Given the description of an element on the screen output the (x, y) to click on. 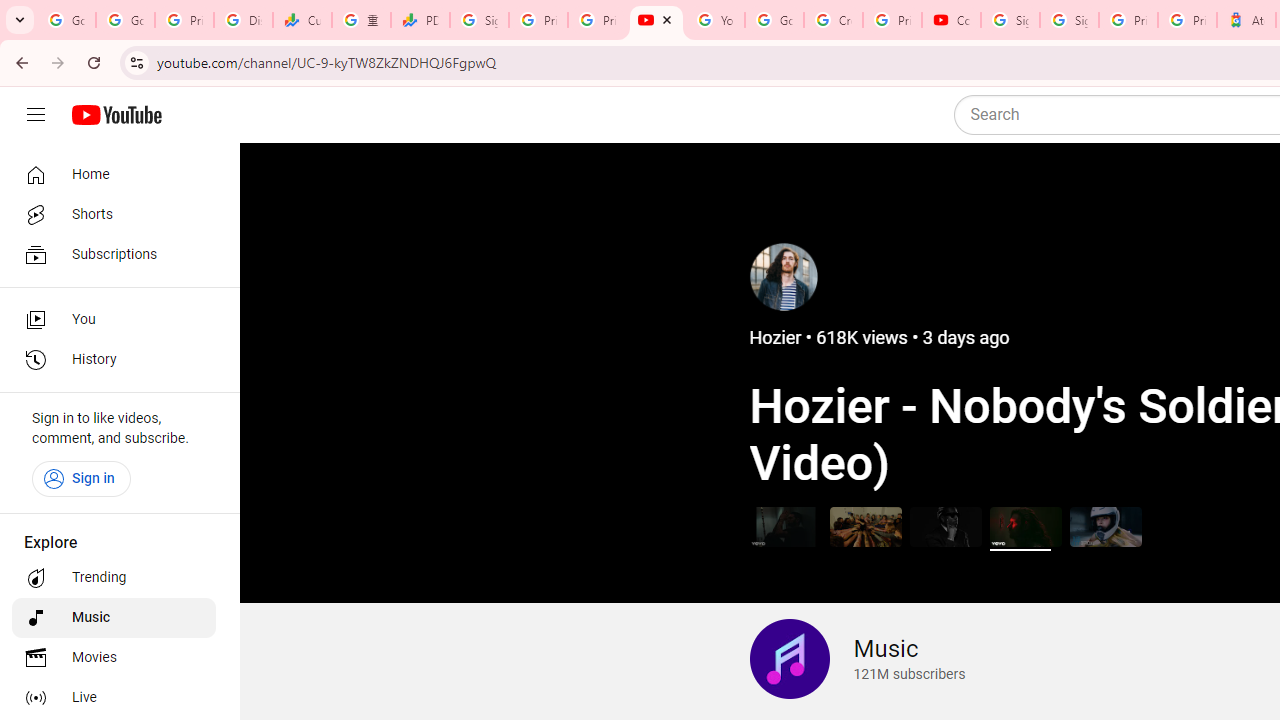
Home (113, 174)
Music (113, 617)
Trending (113, 578)
The Music Channel - YouTube (656, 20)
Google Workspace Admin Community (66, 20)
